Given the description of an element on the screen output the (x, y) to click on. 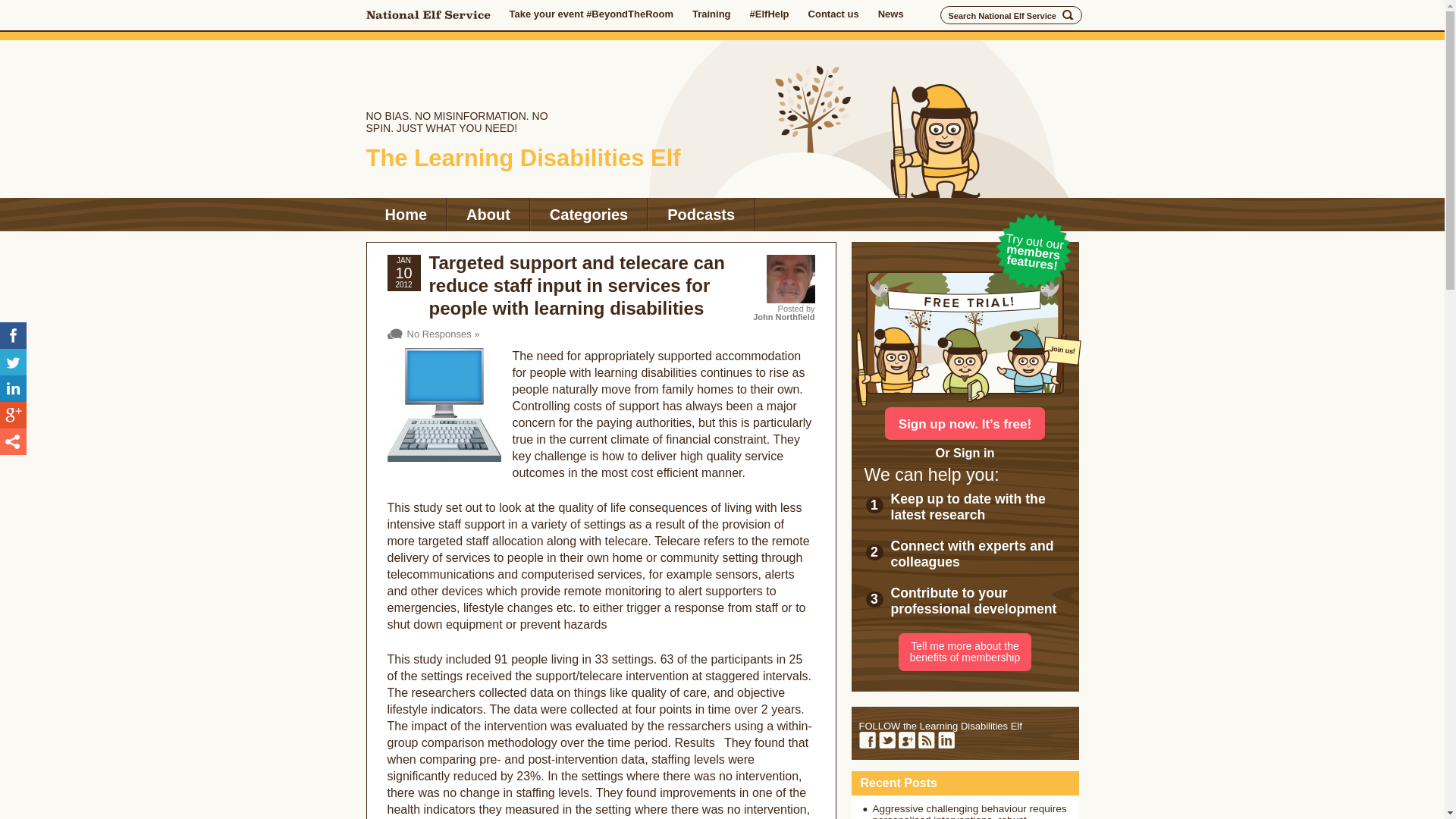
Training (711, 13)
Share on LinkedIn (13, 388)
Tweet this on Twitter (13, 361)
Posts by John Northfield (782, 316)
Contact us (833, 13)
Home (405, 214)
Share on Facebook (13, 335)
Find us on Facebook (867, 740)
Share via sharethis (13, 441)
Follow us on Twitter (886, 740)
